Given the description of an element on the screen output the (x, y) to click on. 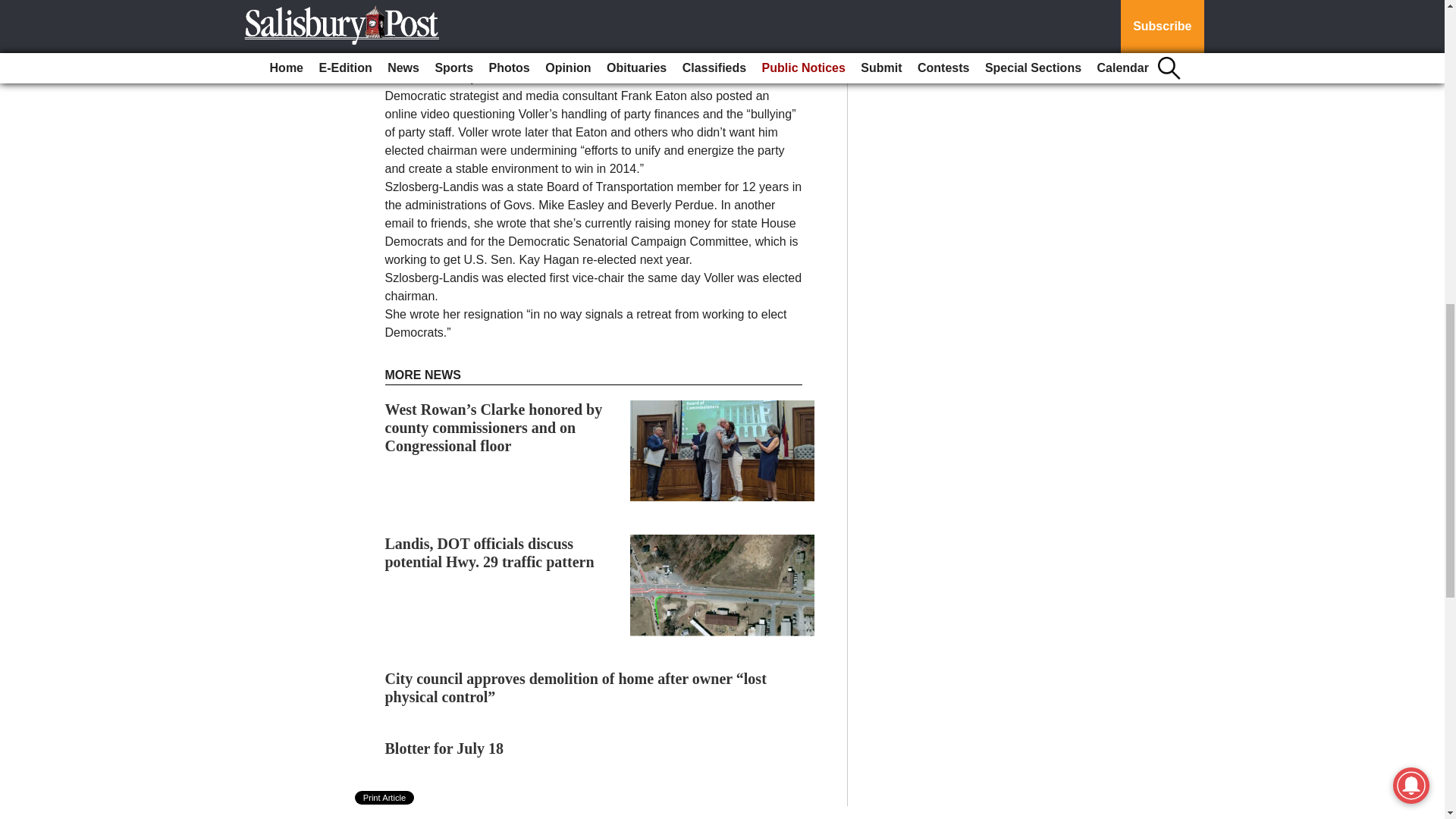
Blotter for July 18 (444, 748)
